Given the description of an element on the screen output the (x, y) to click on. 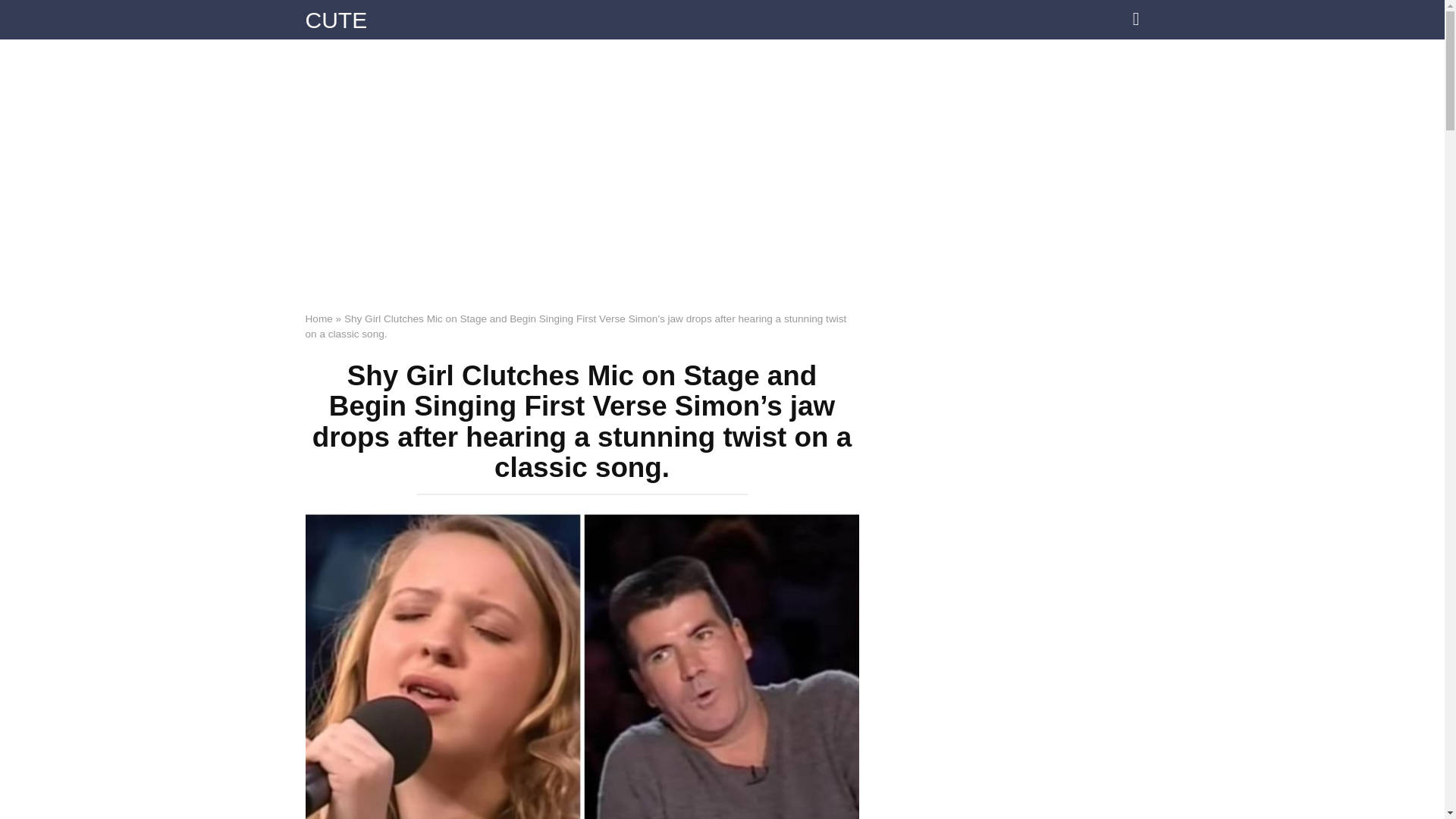
CUTE (335, 19)
Home (317, 318)
